Given the description of an element on the screen output the (x, y) to click on. 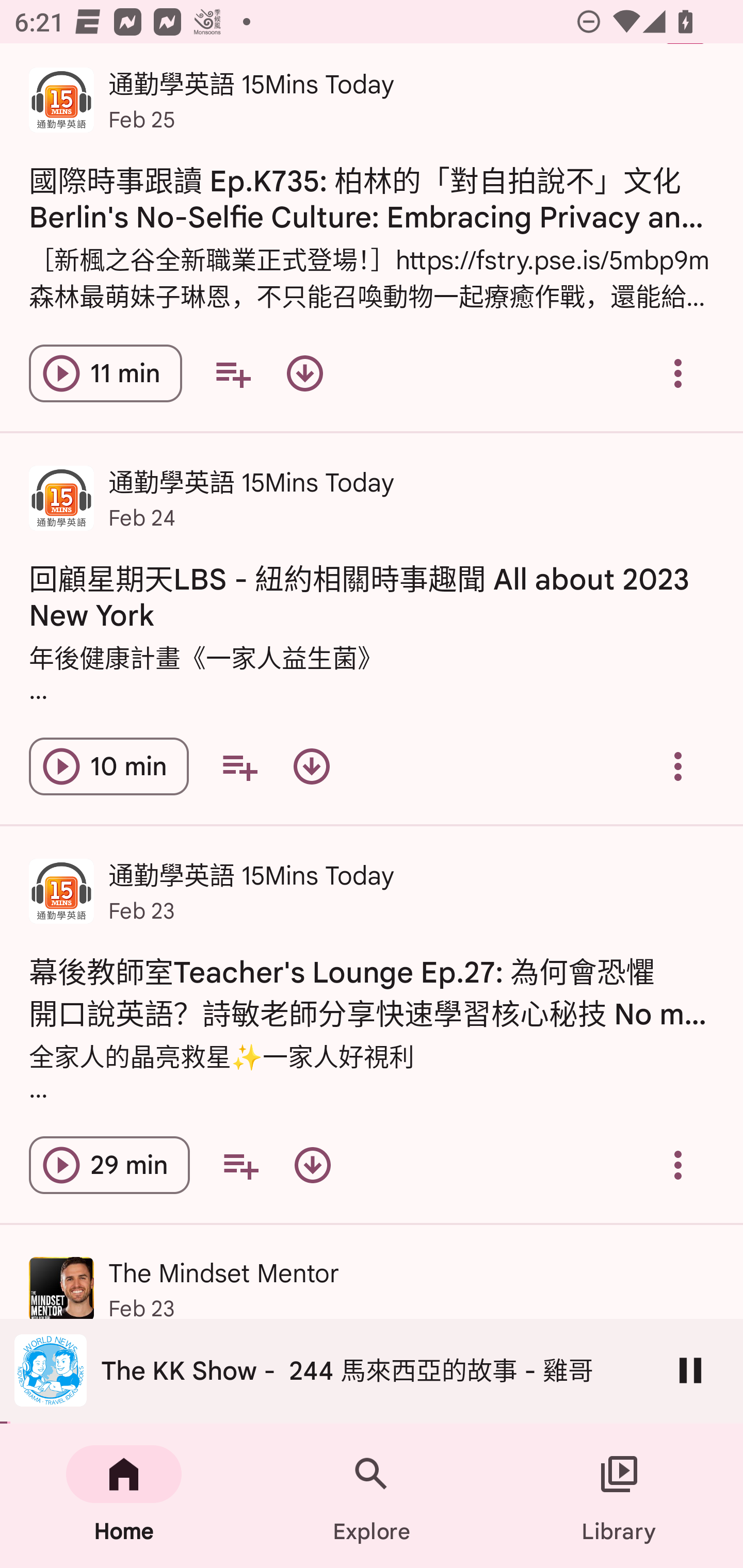
Add to your queue (232, 373)
Download episode (304, 373)
Overflow menu (677, 373)
Add to your queue (239, 765)
Download episode (311, 765)
Overflow menu (677, 765)
Add to your queue (240, 1164)
Download episode (312, 1164)
Overflow menu (677, 1164)
Pause (690, 1370)
Explore (371, 1495)
Library (619, 1495)
